Given the description of an element on the screen output the (x, y) to click on. 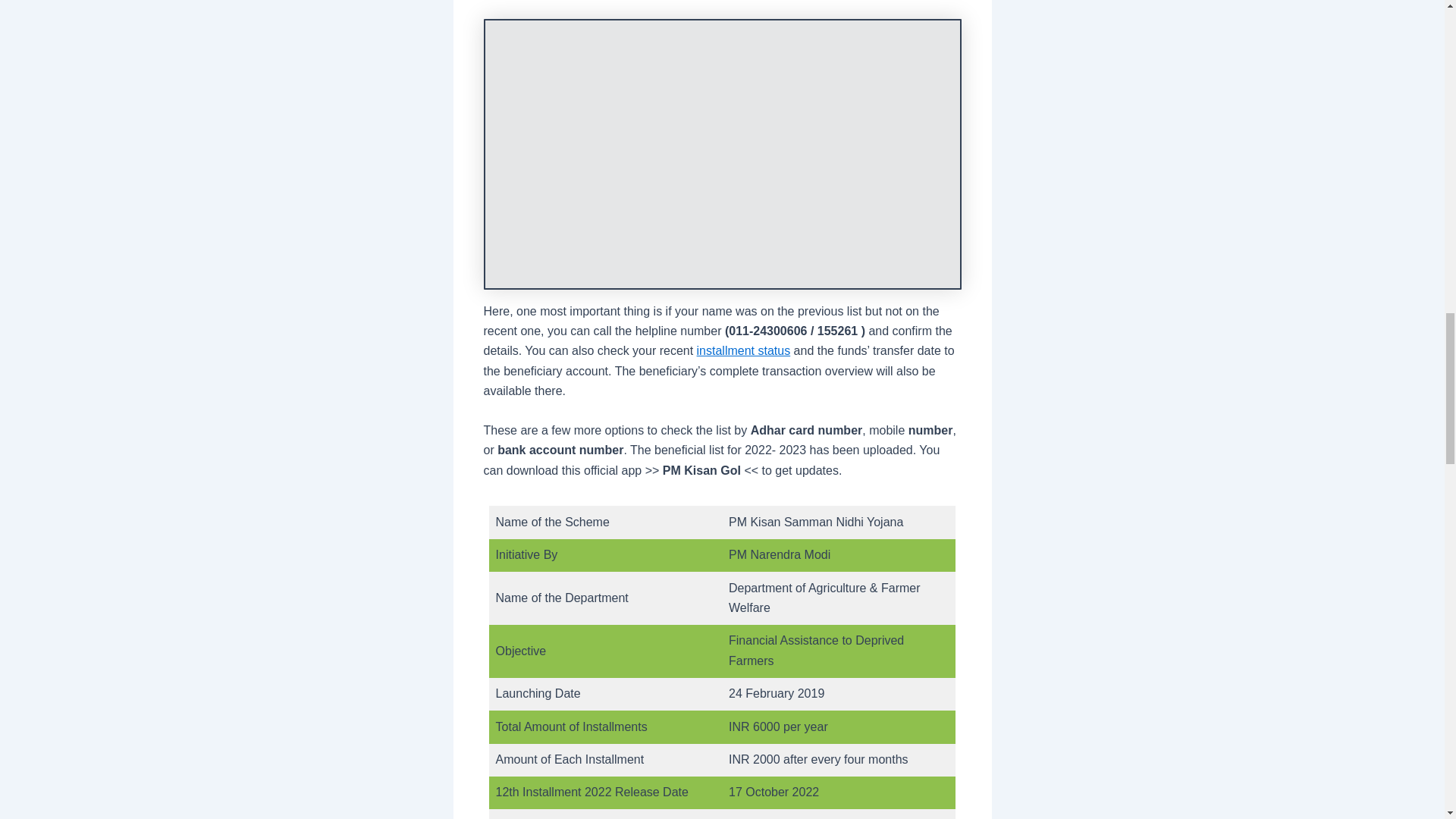
installment status (743, 350)
